Given the description of an element on the screen output the (x, y) to click on. 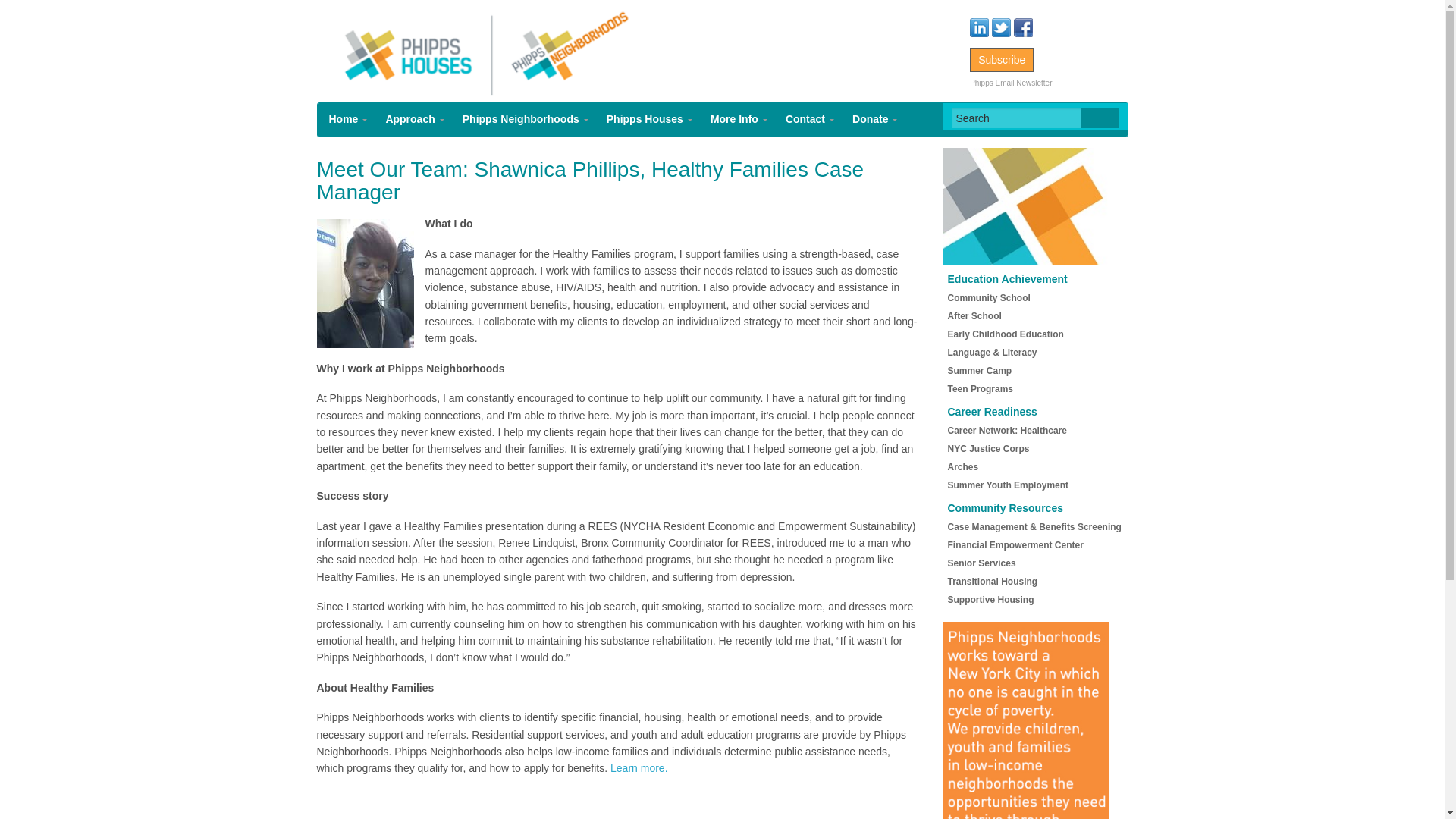
Go (1099, 117)
Phipps Houses (646, 119)
Home (344, 119)
Link To Phipps Twitter Page (1002, 26)
Phipps Neighborhoods (521, 119)
Link To Phipps Facebook Page (1022, 26)
Approach (410, 119)
Subscribe (1001, 59)
Link To Phipps LinkedIn Page (980, 26)
